Given the description of an element on the screen output the (x, y) to click on. 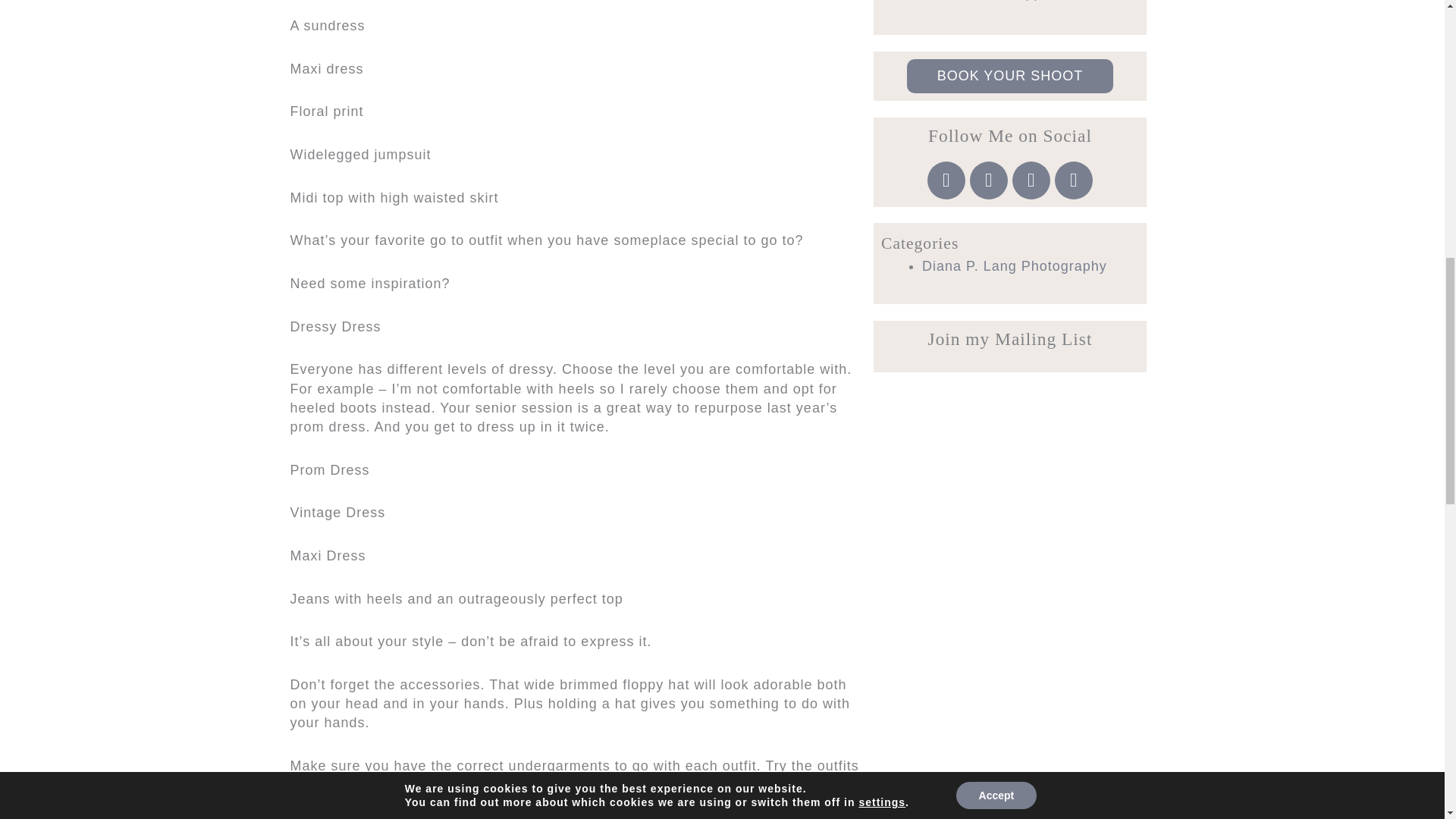
BOOK YOUR SHOOT (1010, 75)
Instagram (946, 180)
